Given the description of an element on the screen output the (x, y) to click on. 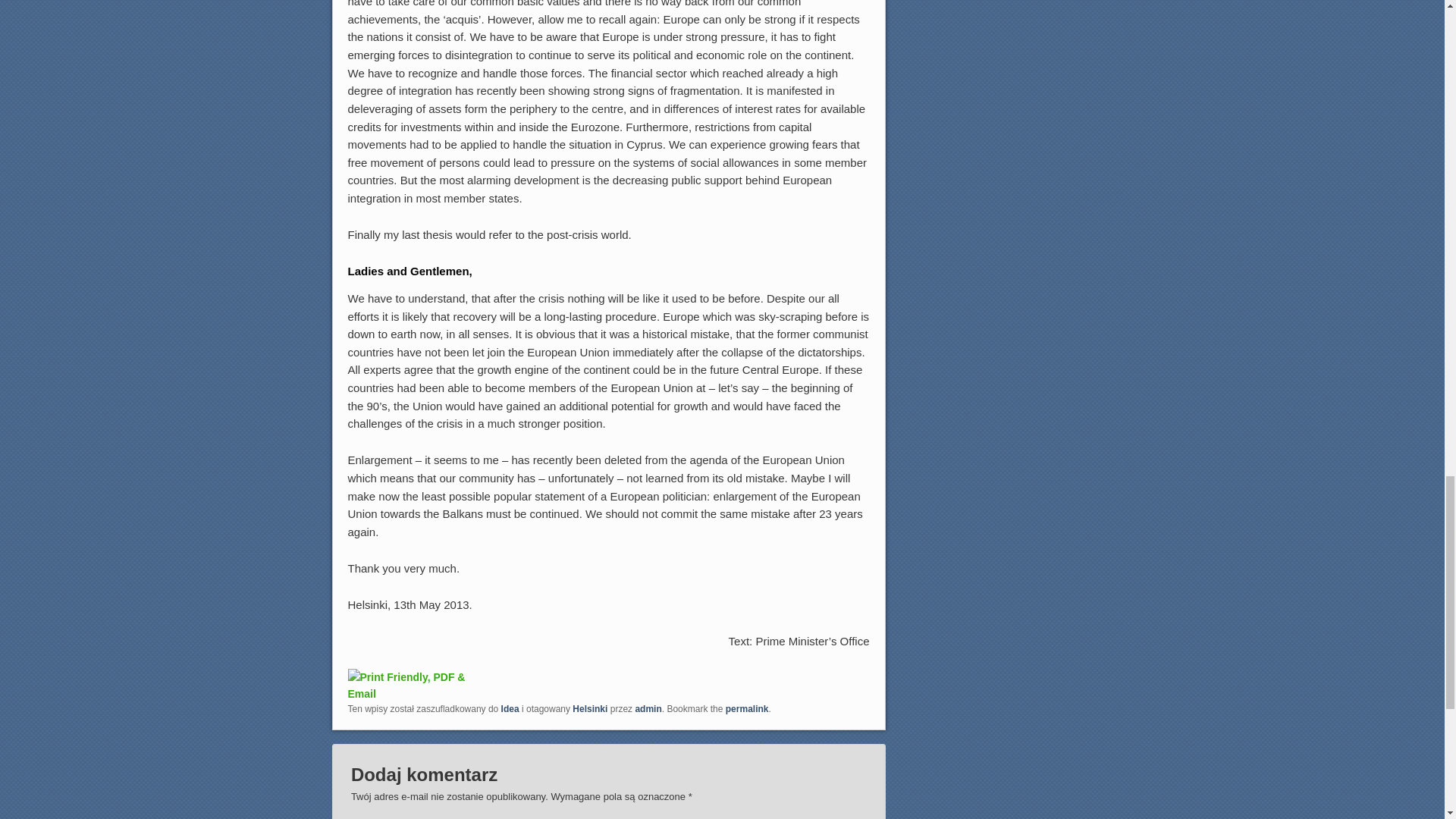
Idea (509, 708)
permalink (746, 708)
Helsinki (589, 708)
admin (647, 708)
